Given the description of an element on the screen output the (x, y) to click on. 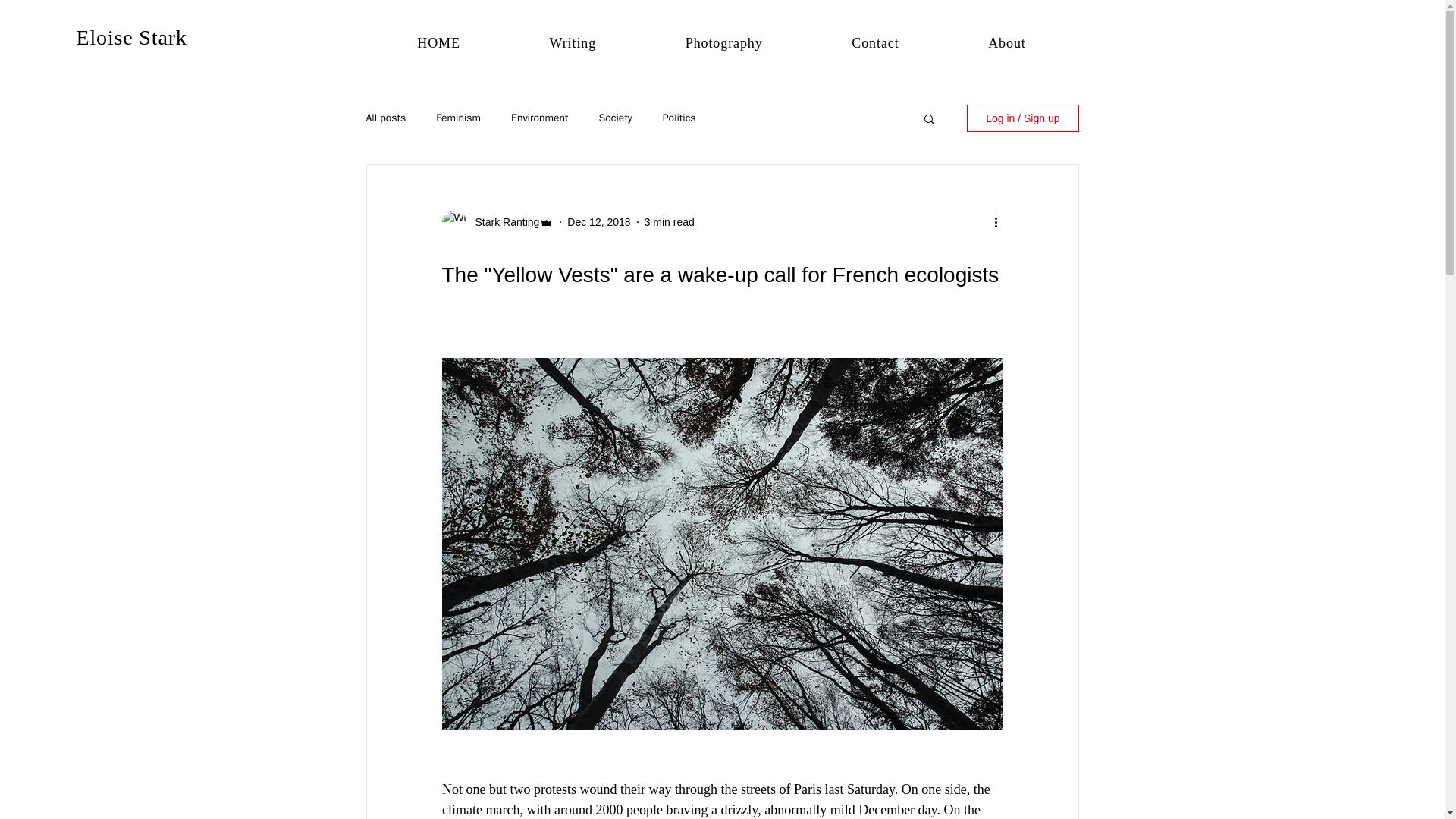
Photography (724, 43)
About (1006, 43)
Writing (572, 43)
Society (614, 118)
3 min read (669, 221)
Politics (678, 118)
Feminism (457, 118)
Stark Ranting  (501, 221)
All posts (385, 118)
Environment (539, 118)
Contact (874, 43)
Dec 12, 2018 (598, 221)
HOME (438, 43)
